Given the description of an element on the screen output the (x, y) to click on. 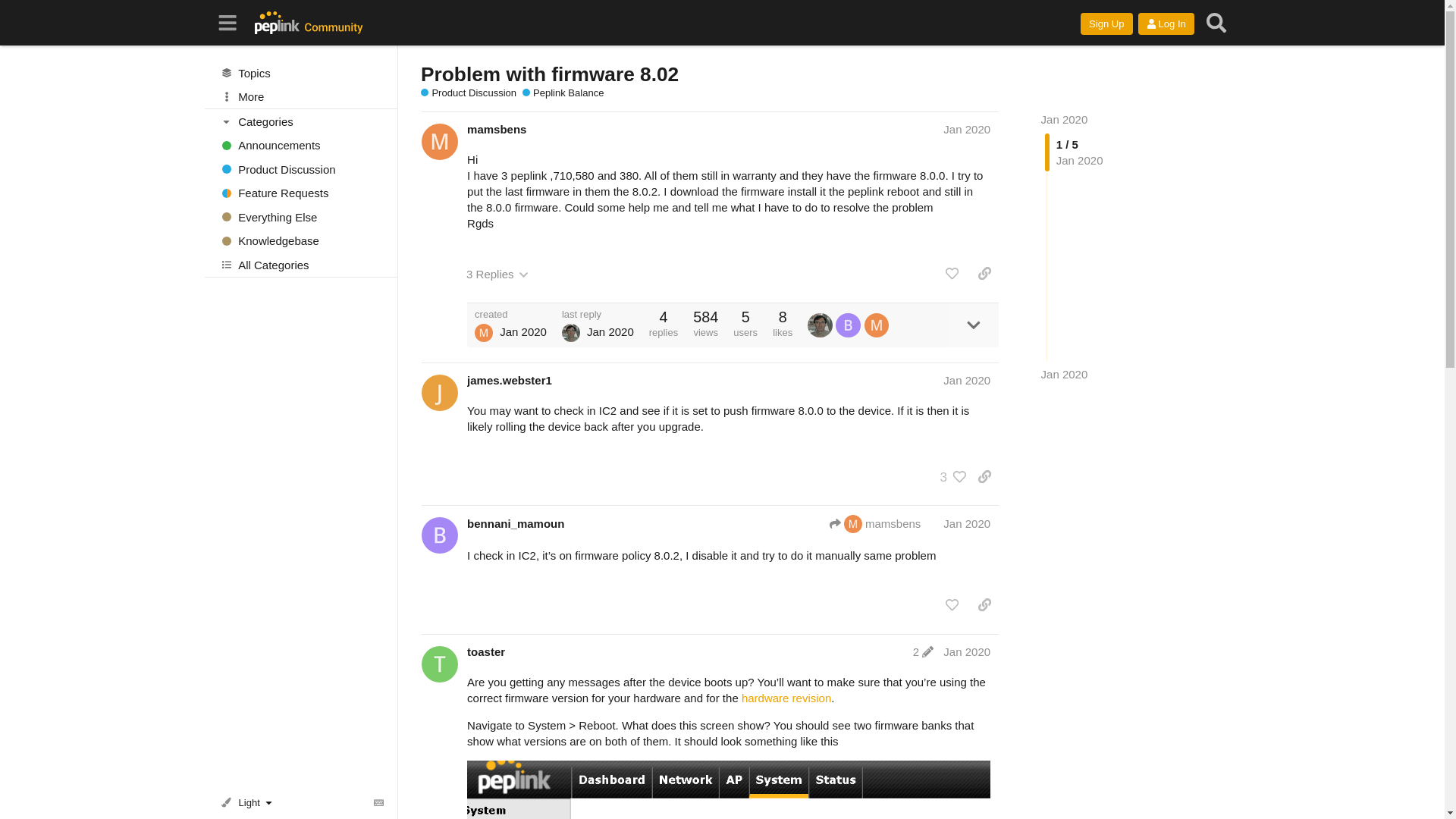
Search (1215, 22)
Log In (1165, 24)
Topics (301, 72)
Catch exciting news that we have to share with you. (301, 145)
Collection of all things Peplink! (301, 216)
Knowledgebase (301, 241)
Product Discussion (468, 92)
last reply (597, 314)
Product Discussion (301, 168)
Jan 2020 (1064, 119)
mamsbens (496, 129)
3 Replies (496, 274)
Keyboard Shortcuts (378, 802)
Peplink Balance (563, 92)
